Given the description of an element on the screen output the (x, y) to click on. 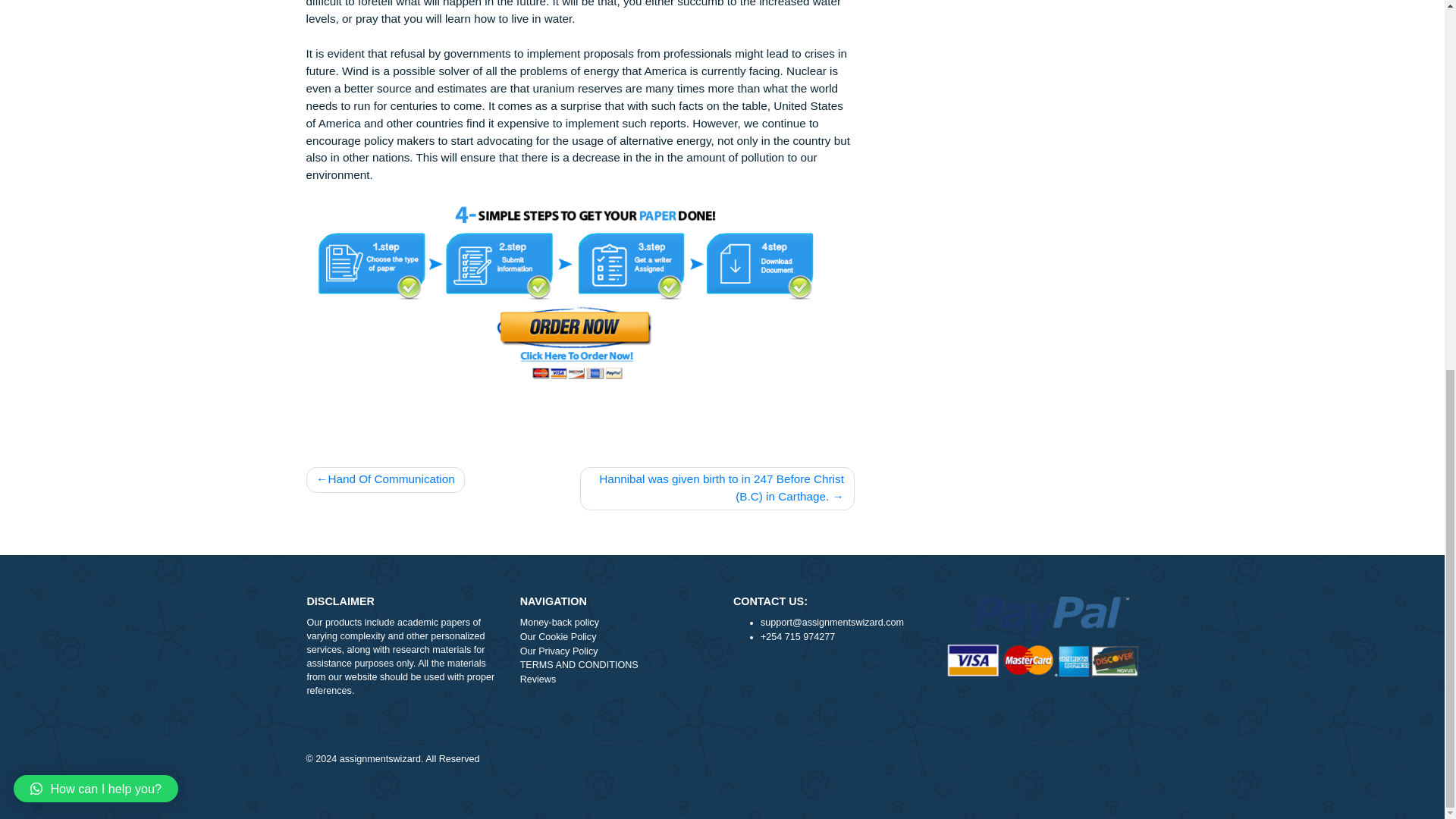
How can I help you? (106, 205)
TERMS AND CONDITIONS (685, 812)
Our Cookie Policy (685, 781)
Money-back policy (685, 765)
Our Privacy Policy (685, 797)
Hand Of Communication (427, 607)
